Given the description of an element on the screen output the (x, y) to click on. 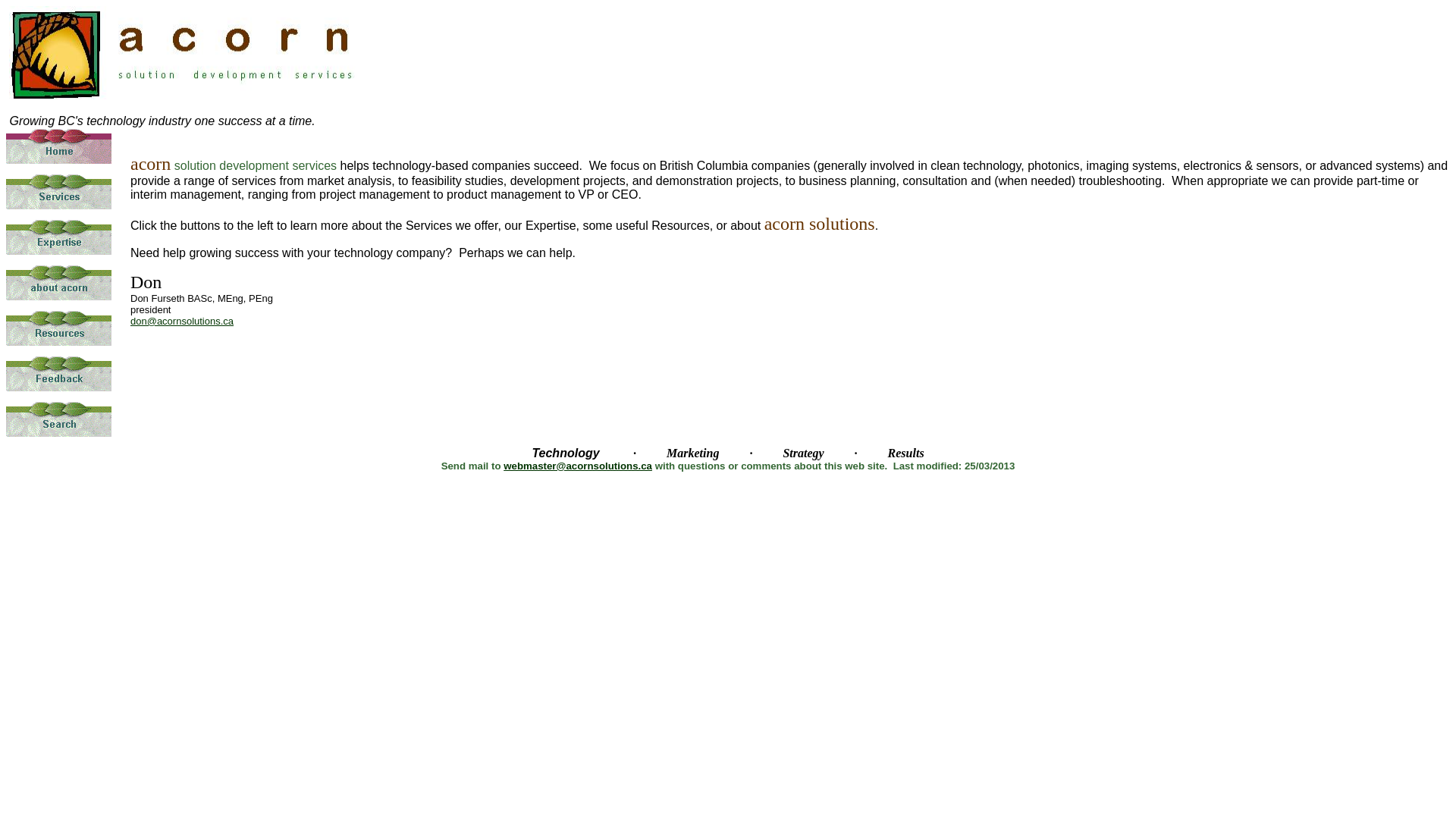
don@acornsolutions.ca Element type: text (181, 319)
webmaster@acornsolutions.ca Element type: text (577, 465)
